Given the description of an element on the screen output the (x, y) to click on. 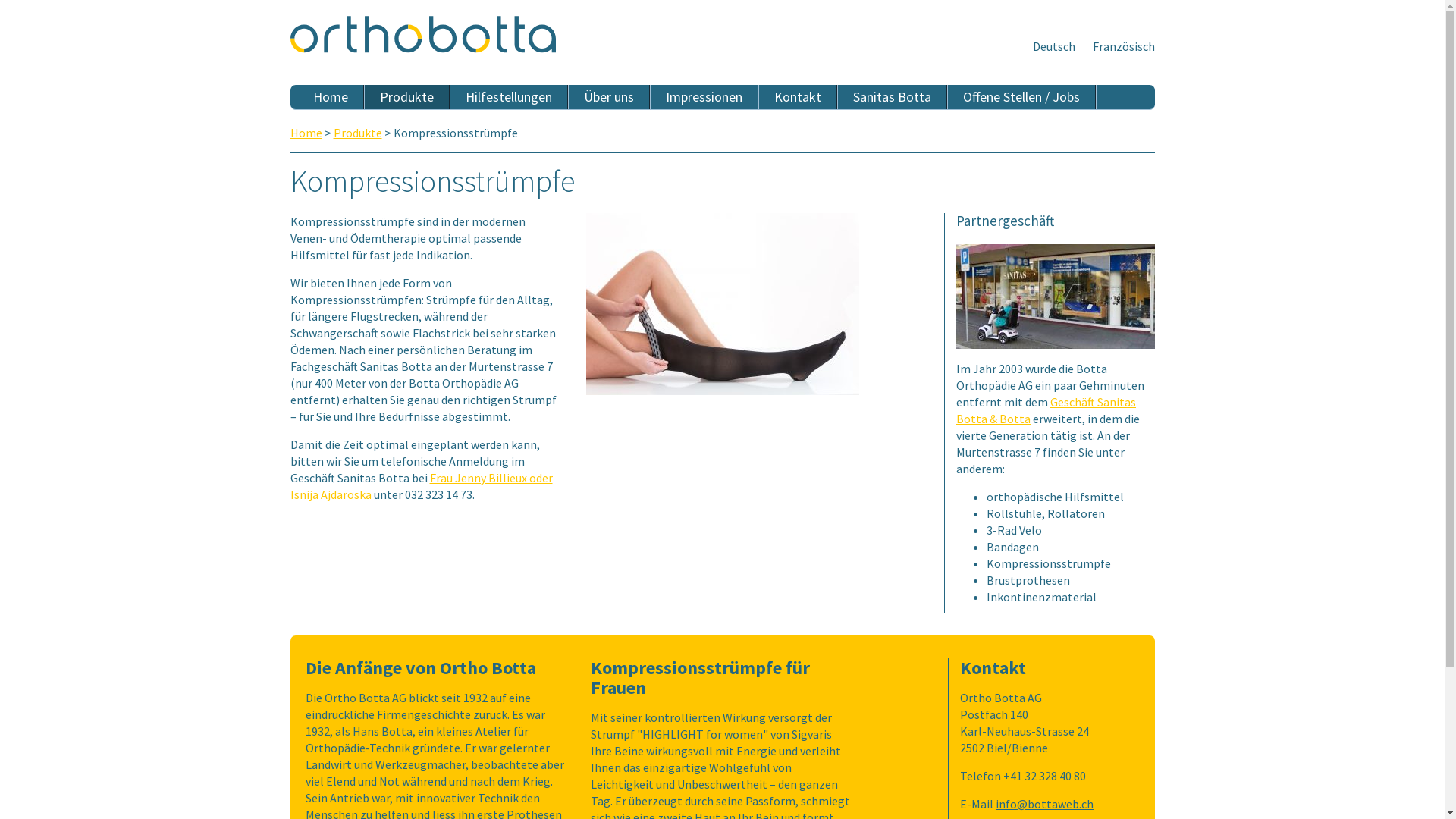
Frau Jenny Billieux oder Isnija Ajdaroska Element type: text (420, 486)
Deutsch Element type: text (1053, 45)
Offene Stellen / Jobs Element type: text (1021, 96)
Home Element type: text (305, 132)
info@bottaweb.ch Element type: text (1044, 803)
Kontakt Element type: text (797, 96)
Hilfestellungen Element type: text (509, 96)
Sanitas Botta Element type: text (892, 96)
Produkte Element type: text (357, 132)
Impressionen Element type: text (704, 96)
Produkte Element type: text (406, 96)
Home Element type: text (330, 96)
